Given the description of an element on the screen output the (x, y) to click on. 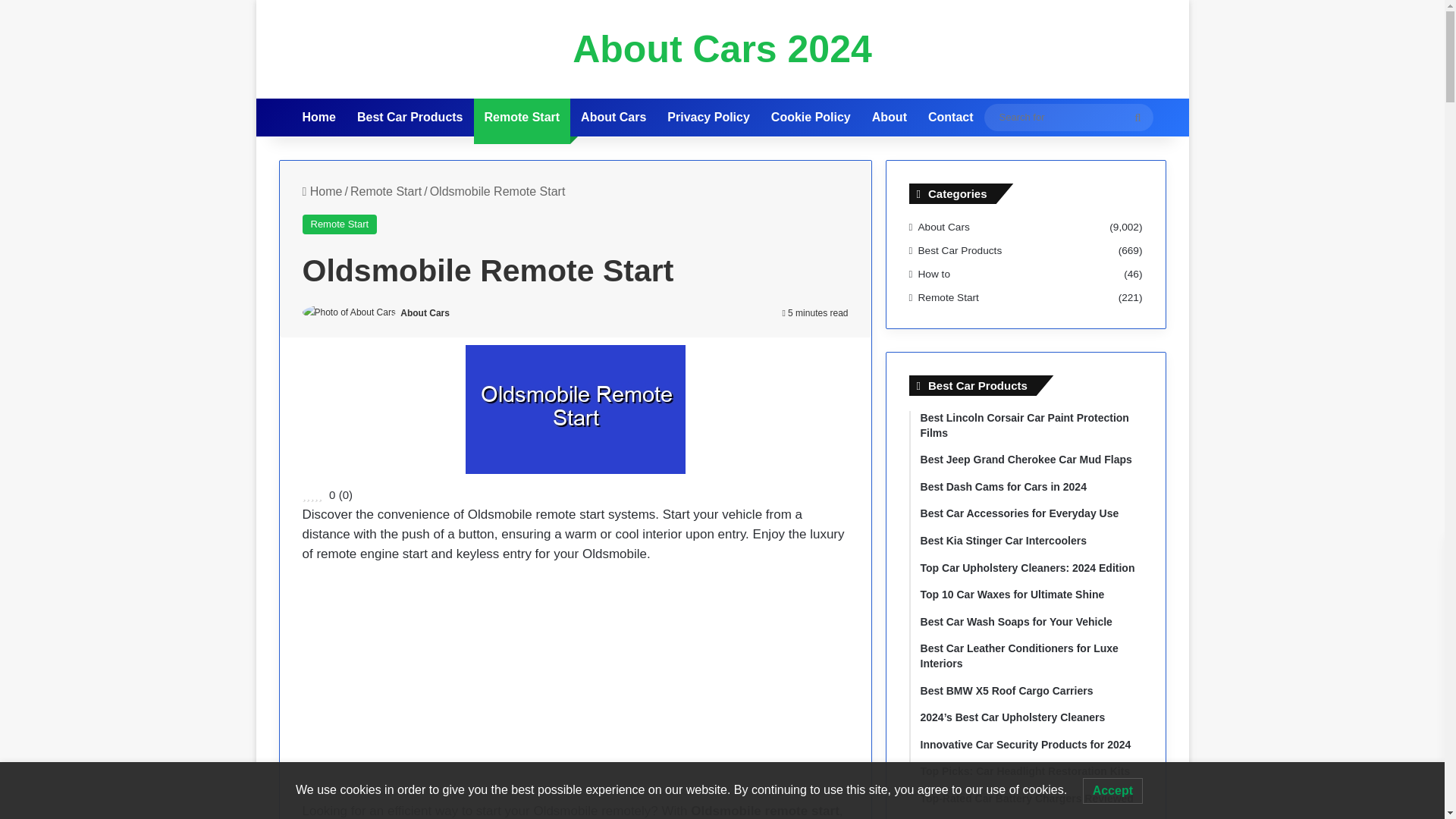
About Cars 2024 (722, 48)
Advertisement (574, 689)
Home (321, 191)
Privacy Policy (708, 117)
Search for (1137, 117)
About Cars (613, 117)
Cookie Policy (810, 117)
Remote Start (522, 117)
About Cars 2024 (722, 48)
Remote Start (339, 224)
Contact (950, 117)
About Cars (424, 312)
About (889, 117)
Home (318, 117)
Remote Start (386, 191)
